Given the description of an element on the screen output the (x, y) to click on. 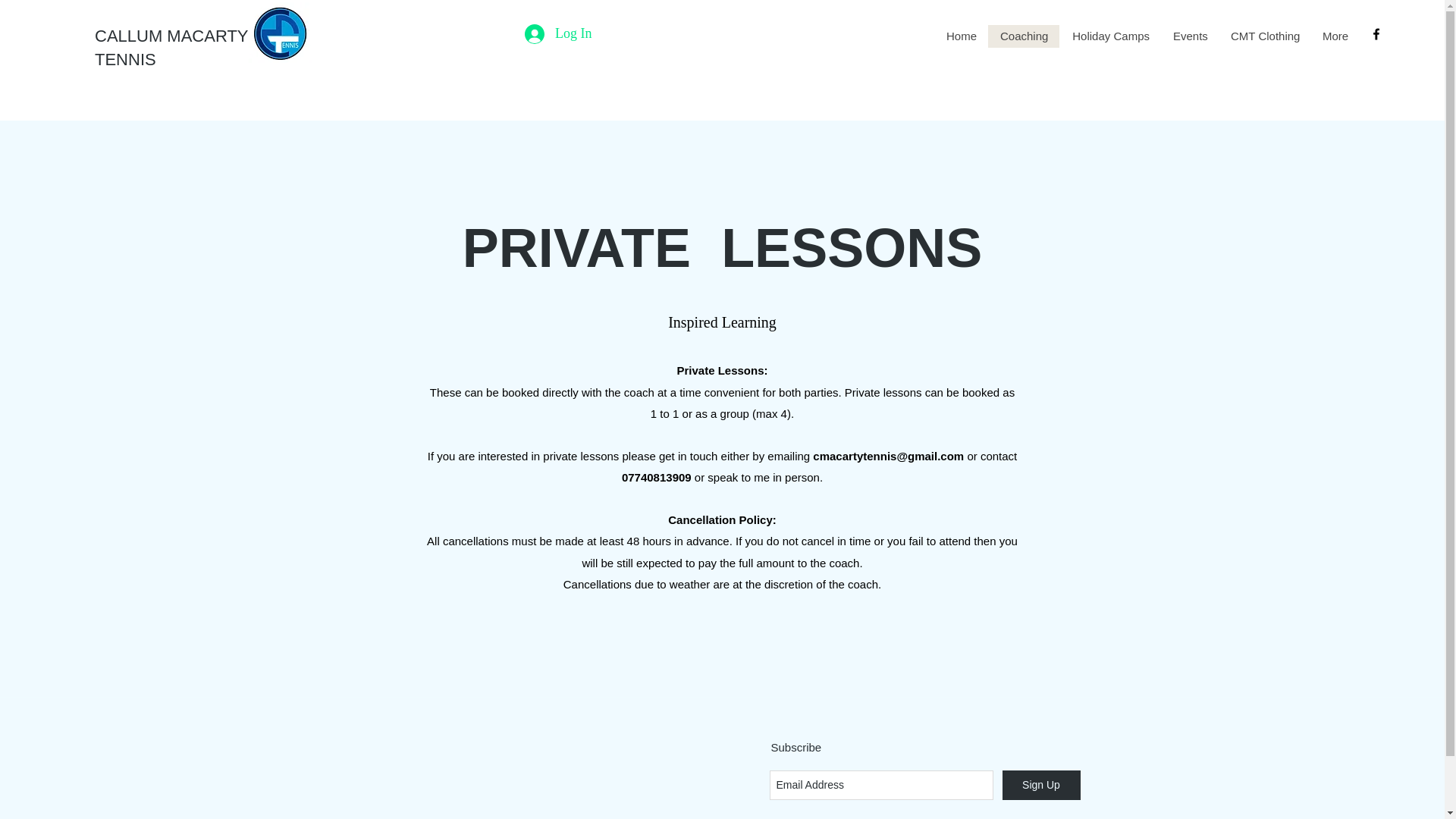
Events (1189, 36)
CMT Clothing (1264, 36)
Home (961, 36)
Coaching (1023, 36)
CALLUM MACARTY TENNIS (170, 47)
Holiday Camps (1109, 36)
Sign Up (1041, 785)
Log In (557, 33)
